Given the description of an element on the screen output the (x, y) to click on. 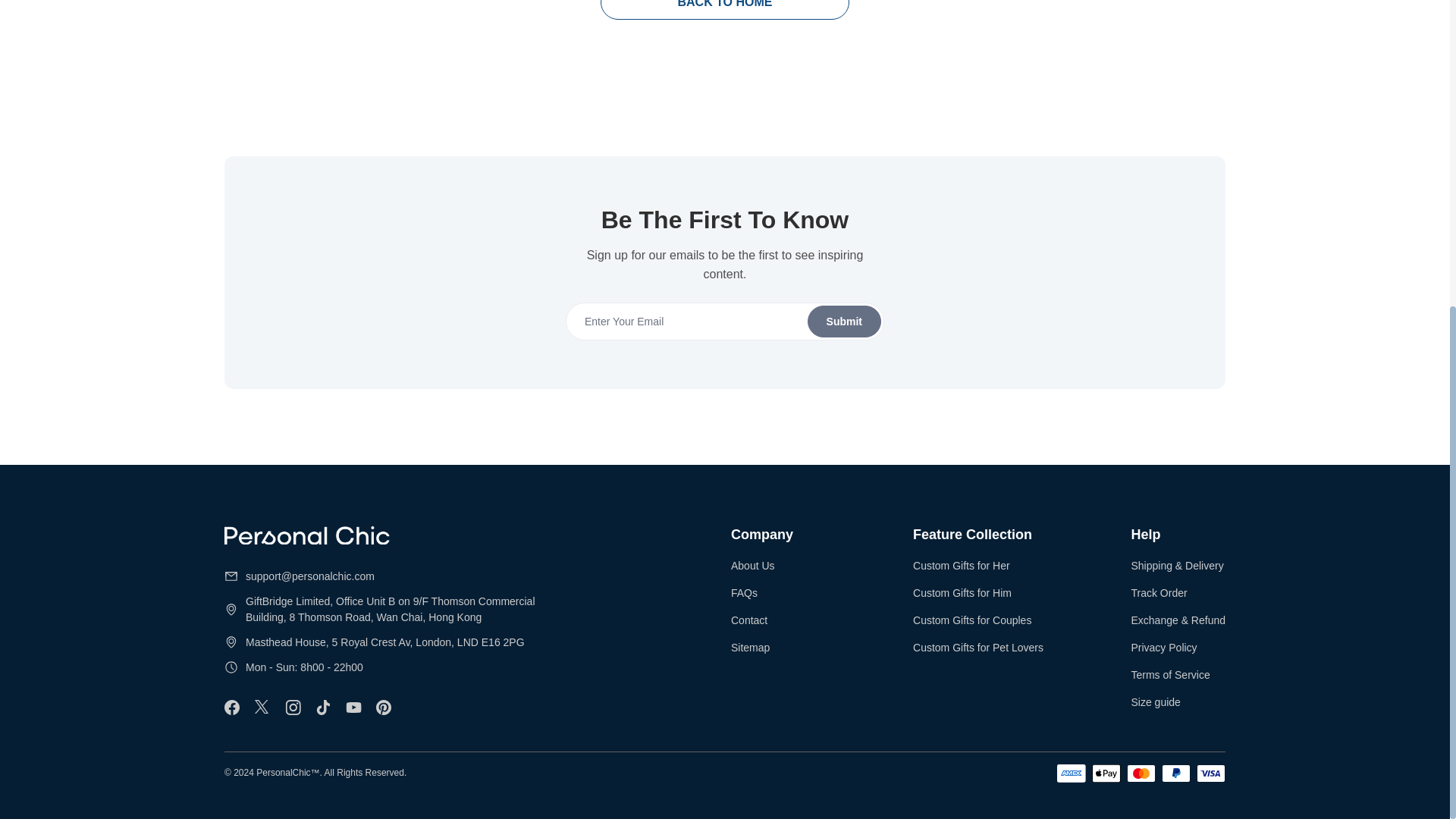
Submit (723, 321)
